Given the description of an element on the screen output the (x, y) to click on. 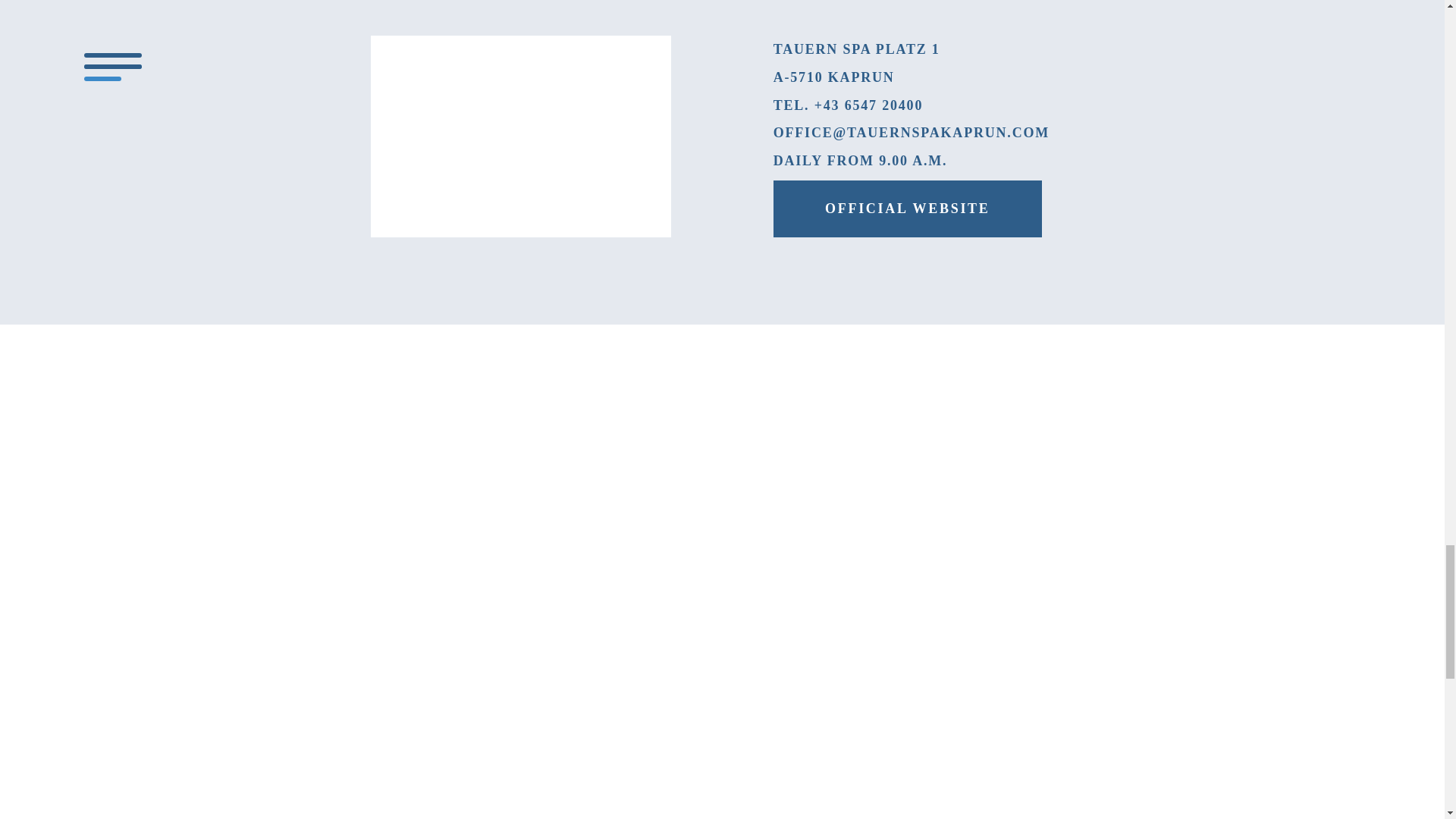
Schreiben Sie uns (911, 132)
OFFICIAL WEBSITE (907, 208)
